Given the description of an element on the screen output the (x, y) to click on. 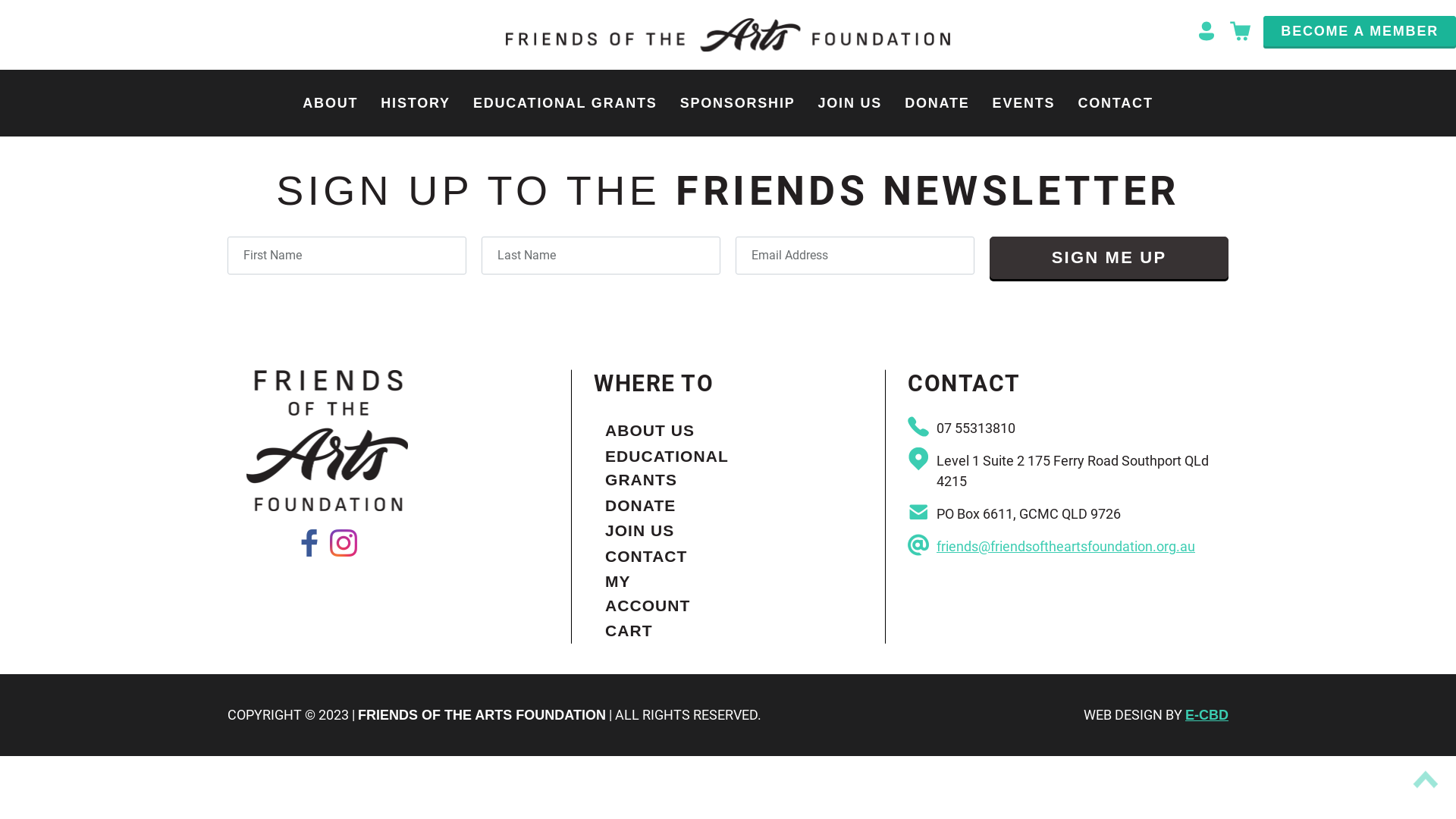
Friends of the Arts, Gold Coast Element type: text (727, 34)
JOIN US Element type: text (849, 102)
ABOUT Element type: text (329, 102)
SPONSORSHIP Element type: text (737, 102)
CART Element type: text (660, 630)
JOIN US Element type: text (660, 530)
Like us on Facebook Element type: text (308, 542)
CONTACT Element type: text (1114, 102)
ABOUT US Element type: text (660, 430)
friends@friendsoftheartsfoundation.org.au Element type: text (1065, 546)
EVENTS Element type: text (1023, 102)
07 55313810 Element type: text (975, 428)
Friends of the Arts, Gold Coast Element type: text (326, 440)
HOME Element type: text (610, 58)
SIGN ME UP Element type: text (1108, 257)
DONATE Element type: text (936, 102)
HISTORY Element type: text (415, 102)
EDUCATIONAL GRANTS Element type: text (565, 102)
Check our Instagram photos Element type: text (342, 542)
MY ACCOUNT Element type: text (660, 593)
EDUCATIONAL GRANTS Element type: text (660, 467)
E-CBD Element type: text (1206, 714)
DONATE Element type: text (660, 505)
CONTACT Element type: text (660, 556)
